Given the description of an element on the screen output the (x, y) to click on. 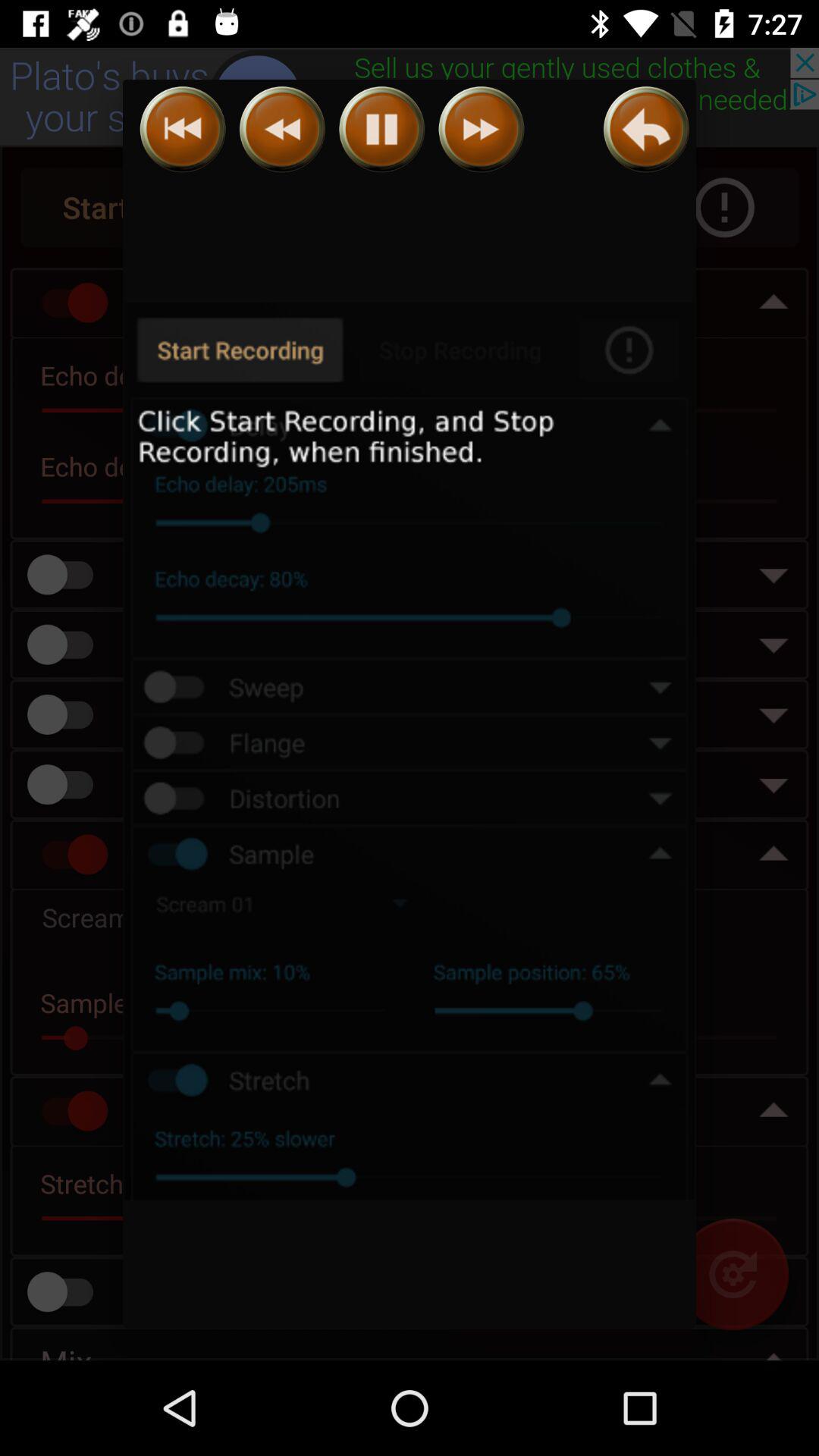
go back go to previous rewind (182, 129)
